Given the description of an element on the screen output the (x, y) to click on. 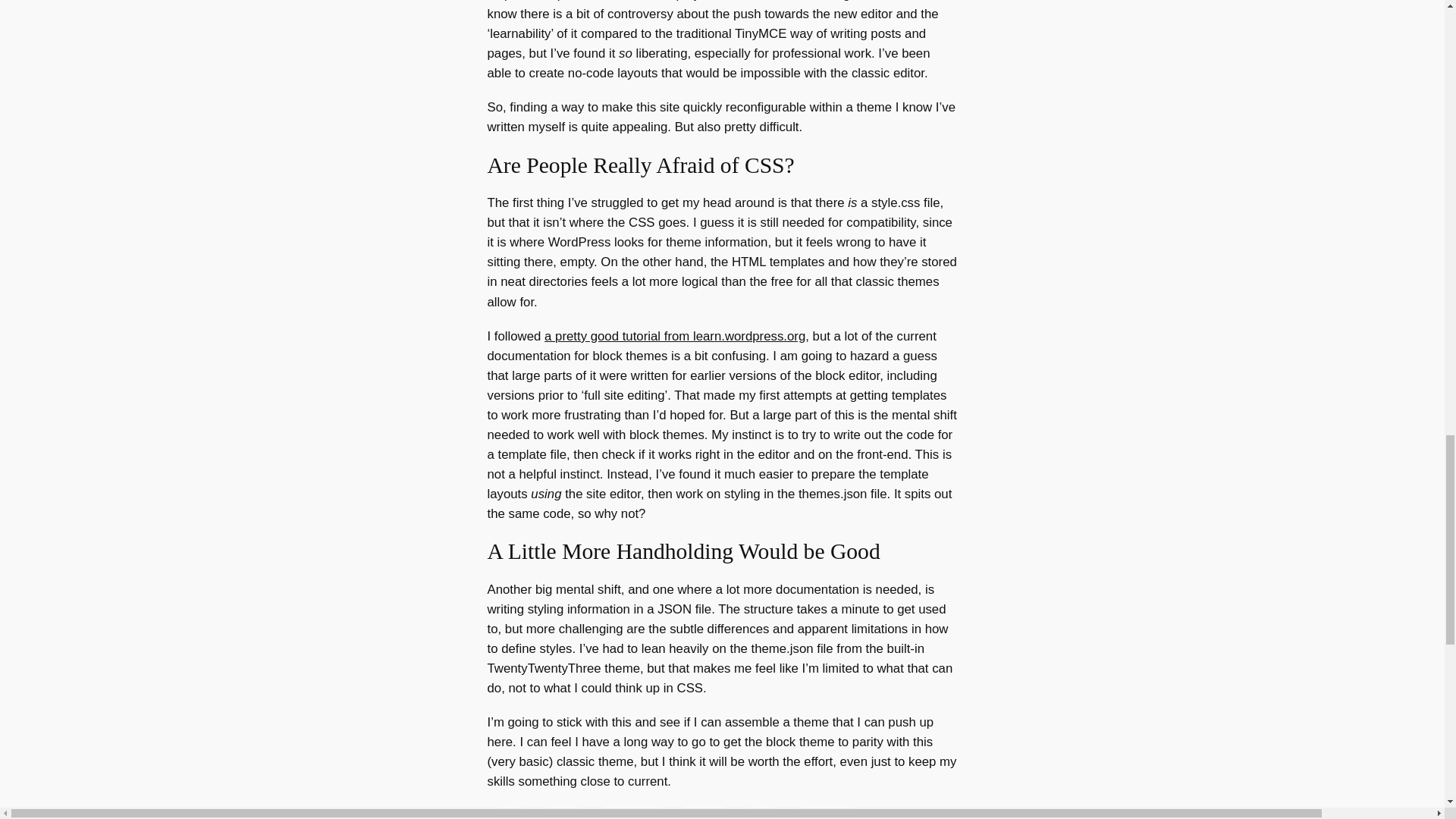
HTML (562, 812)
WordPress (827, 812)
Themes (704, 812)
a pretty good tutorial from learn.wordpress.org (674, 336)
CSS (508, 812)
technology (631, 812)
Web (762, 812)
